Given the description of an element on the screen output the (x, y) to click on. 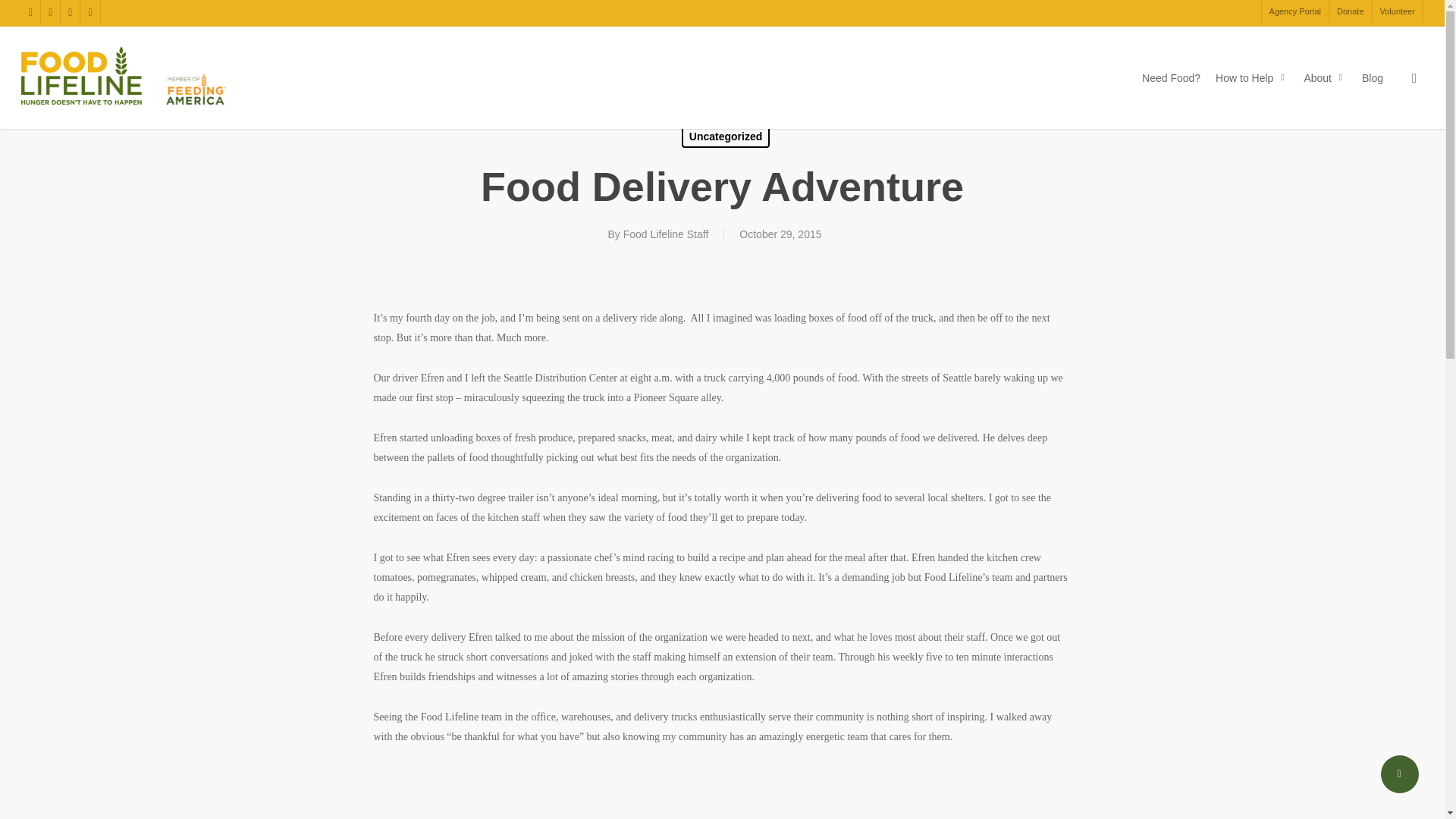
Donate (1349, 11)
Blog (1372, 77)
Agency Portal (1293, 11)
About (1324, 77)
search (1414, 77)
Need Food? (1170, 77)
Volunteer (1396, 11)
How to Help (1251, 77)
Posts by Food Lifeline Staff (666, 234)
instagram (89, 12)
Food Lifeline Staff (666, 234)
facebook (49, 12)
twitter (30, 12)
Uncategorized (725, 136)
linkedin (69, 12)
